Given the description of an element on the screen output the (x, y) to click on. 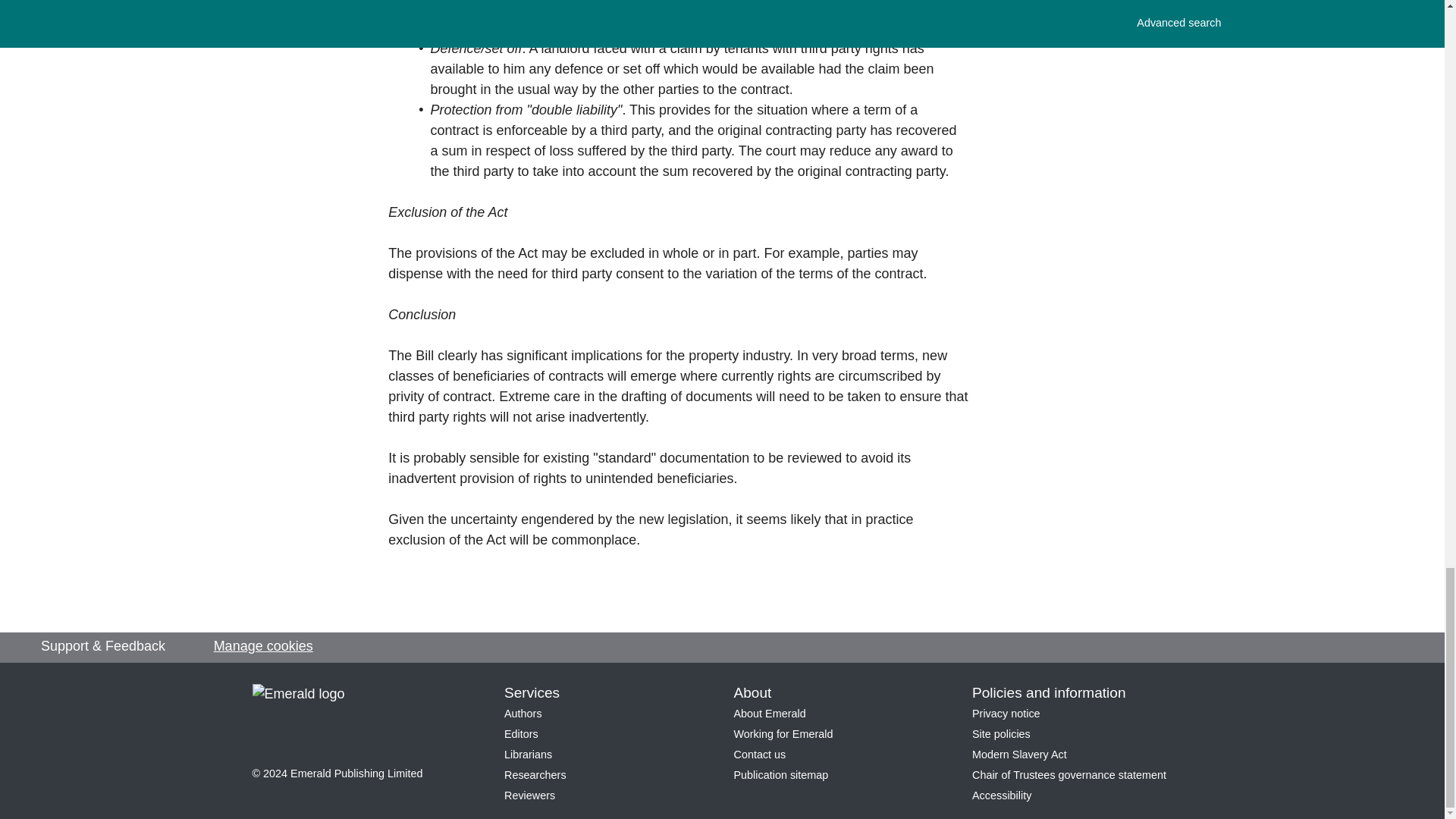
Manage cookies (263, 646)
Researchers (534, 775)
Modern Slavery Act (1019, 754)
Privacy notice (1006, 713)
Reviewers (528, 795)
Chair of Trustees governance statement (1069, 775)
Site policies (1001, 734)
Librarians (527, 754)
Publication sitemap (780, 775)
About Emerald (769, 713)
